Given the description of an element on the screen output the (x, y) to click on. 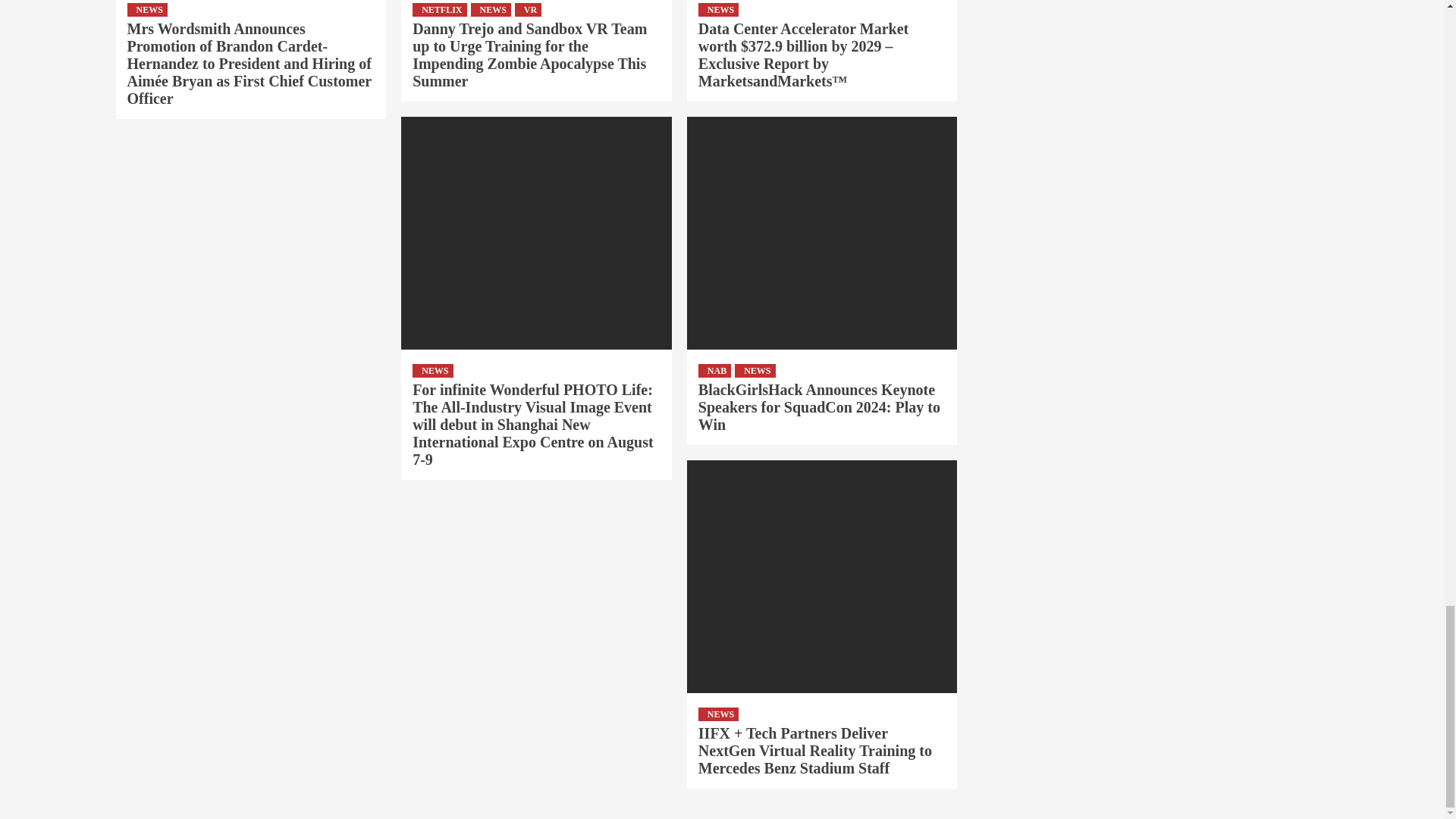
NEWS (490, 9)
NETFLIX (438, 9)
NEWS (147, 9)
VR (528, 9)
